Given the description of an element on the screen output the (x, y) to click on. 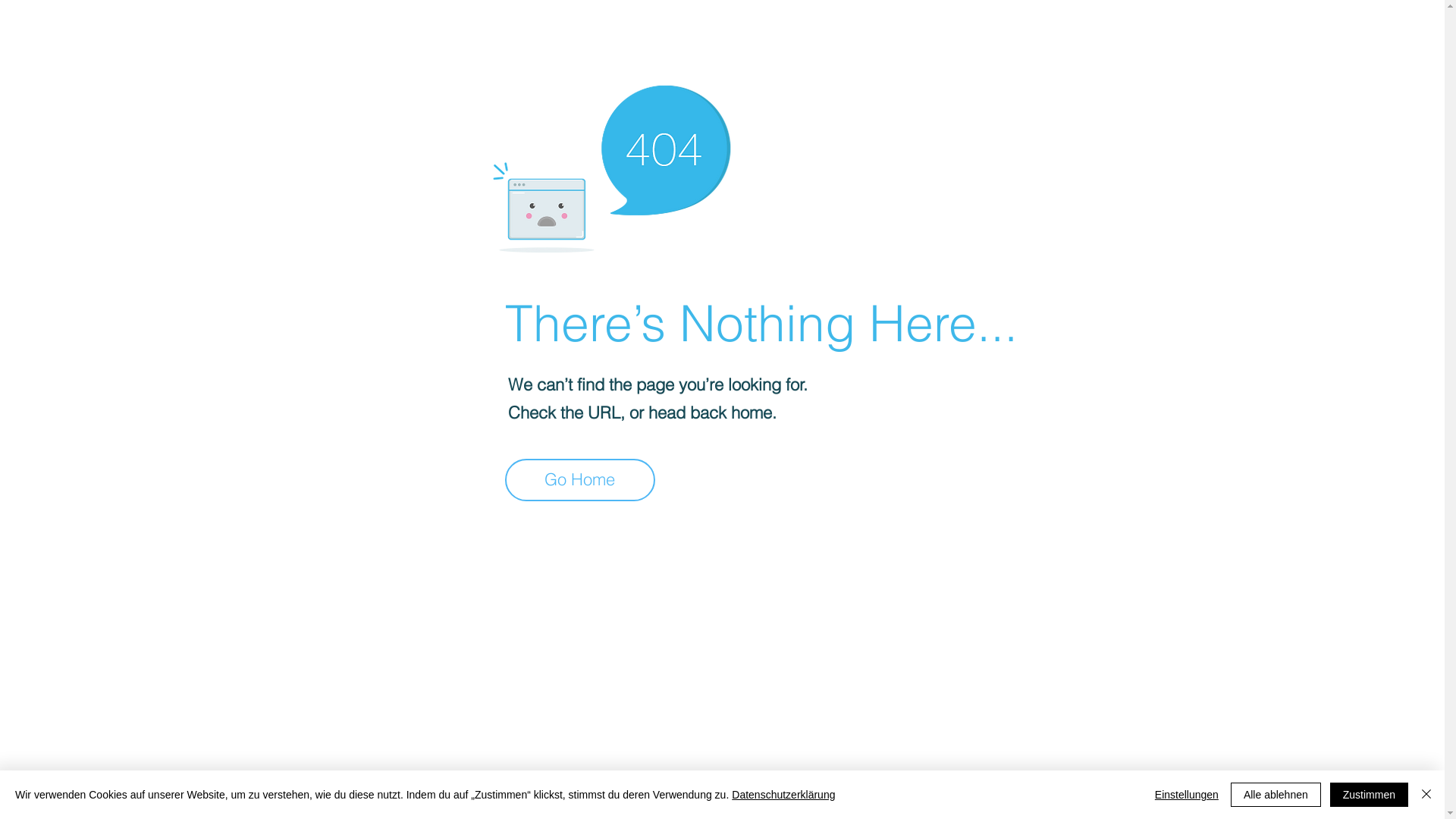
Alle ablehnen Element type: text (1275, 794)
404-icon_2.png Element type: hover (610, 164)
Zustimmen Element type: text (1369, 794)
Go Home Element type: text (580, 479)
